Given the description of an element on the screen output the (x, y) to click on. 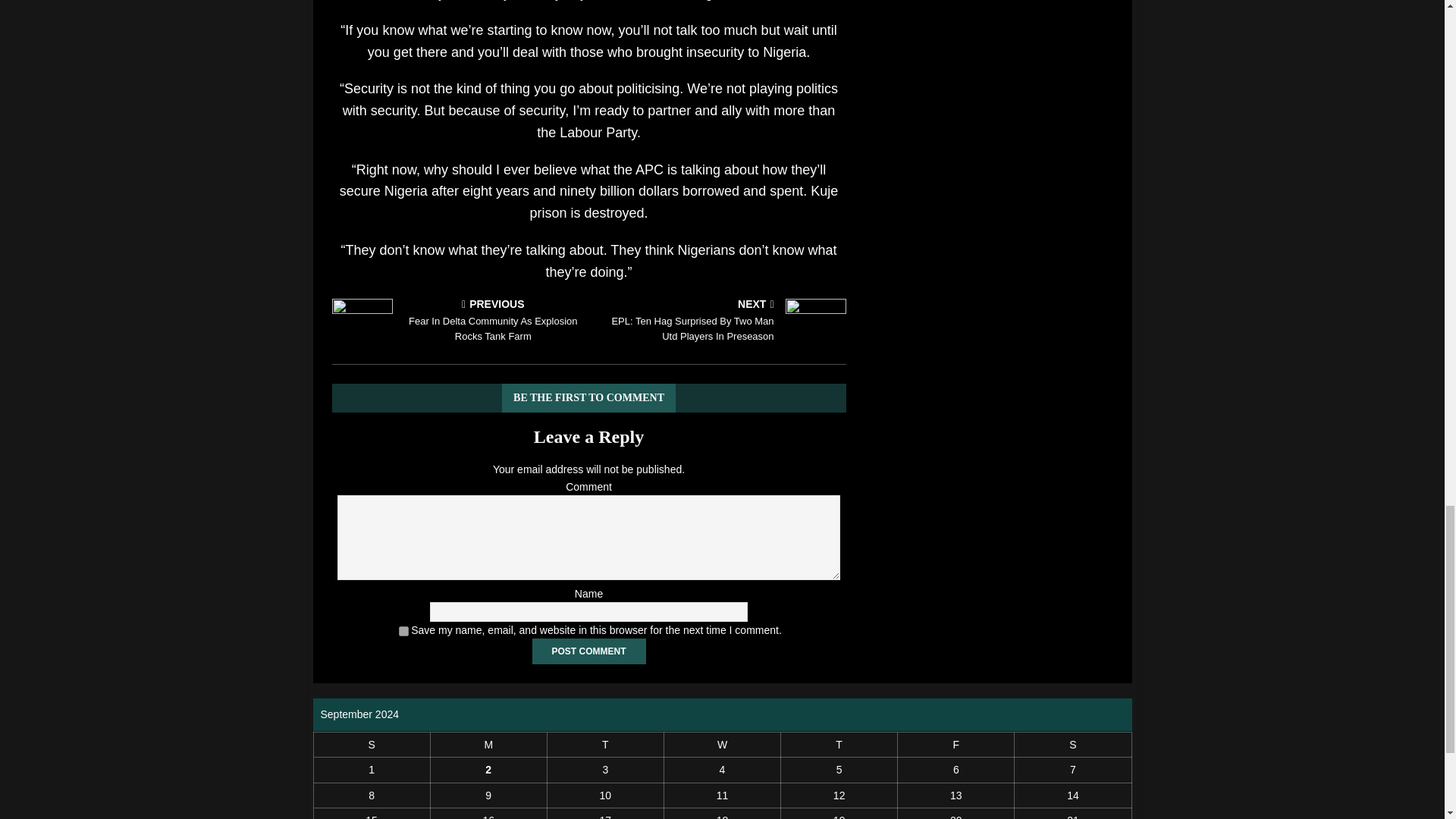
Monday (488, 744)
Sunday (371, 744)
Tuesday (605, 744)
yes (403, 631)
Thursday (839, 744)
Saturday (1072, 744)
Wednesday (721, 744)
Post Comment (589, 651)
Friday (956, 744)
